Given the description of an element on the screen output the (x, y) to click on. 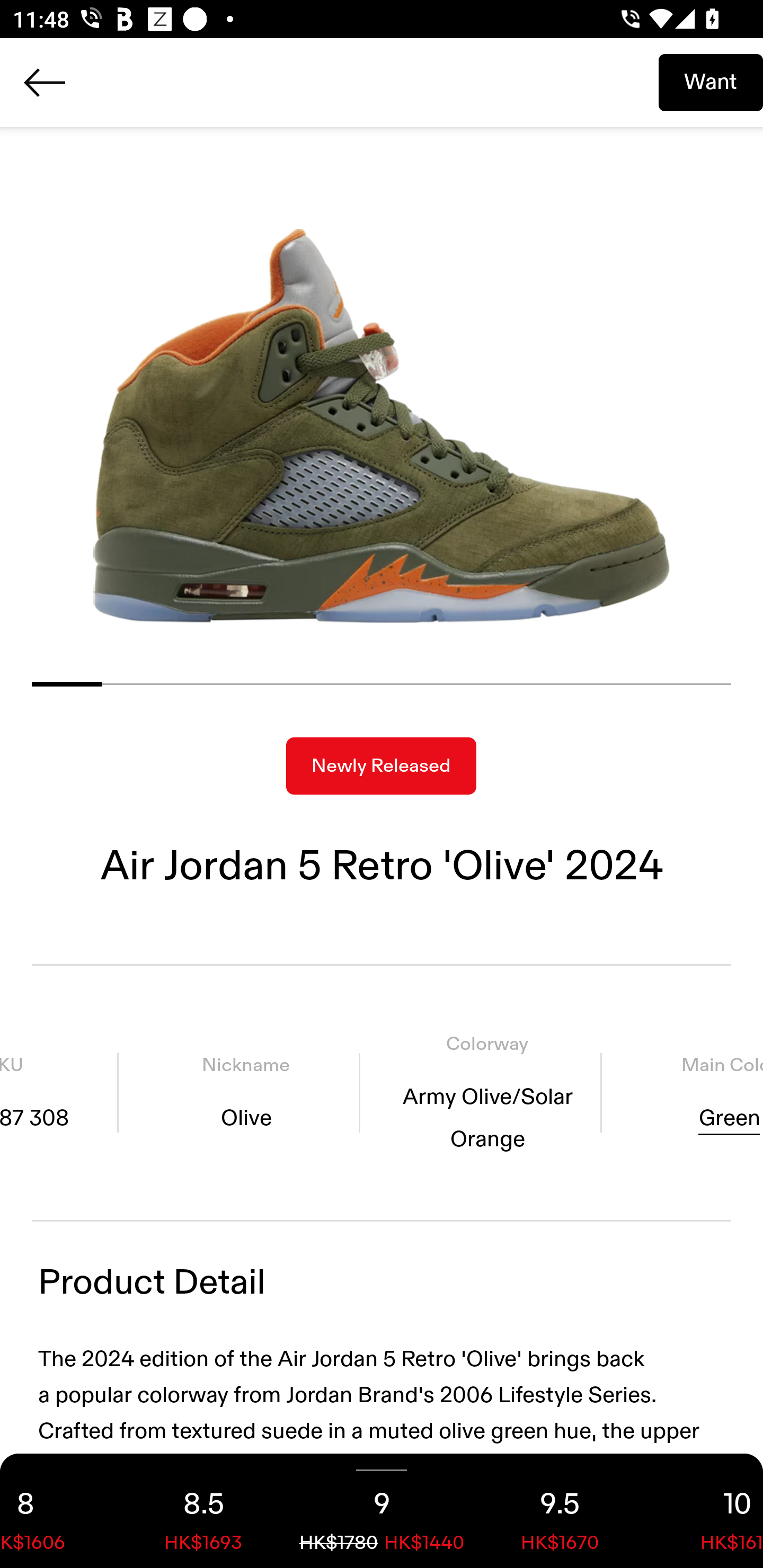
Want (710, 82)
Newly Released (381, 765)
SKU DD0587 308 (59, 1092)
Nickname Olive (245, 1092)
Colorway Army Olive/Solar Orange (487, 1092)
Main Color Green (688, 1092)
8 HK$1606 (57, 1510)
8.5 HK$1693 (203, 1510)
9 HK$1780 HK$1440 (381, 1510)
9.5 HK$1670 (559, 1510)
10 HK$1614 (705, 1510)
